Given the description of an element on the screen output the (x, y) to click on. 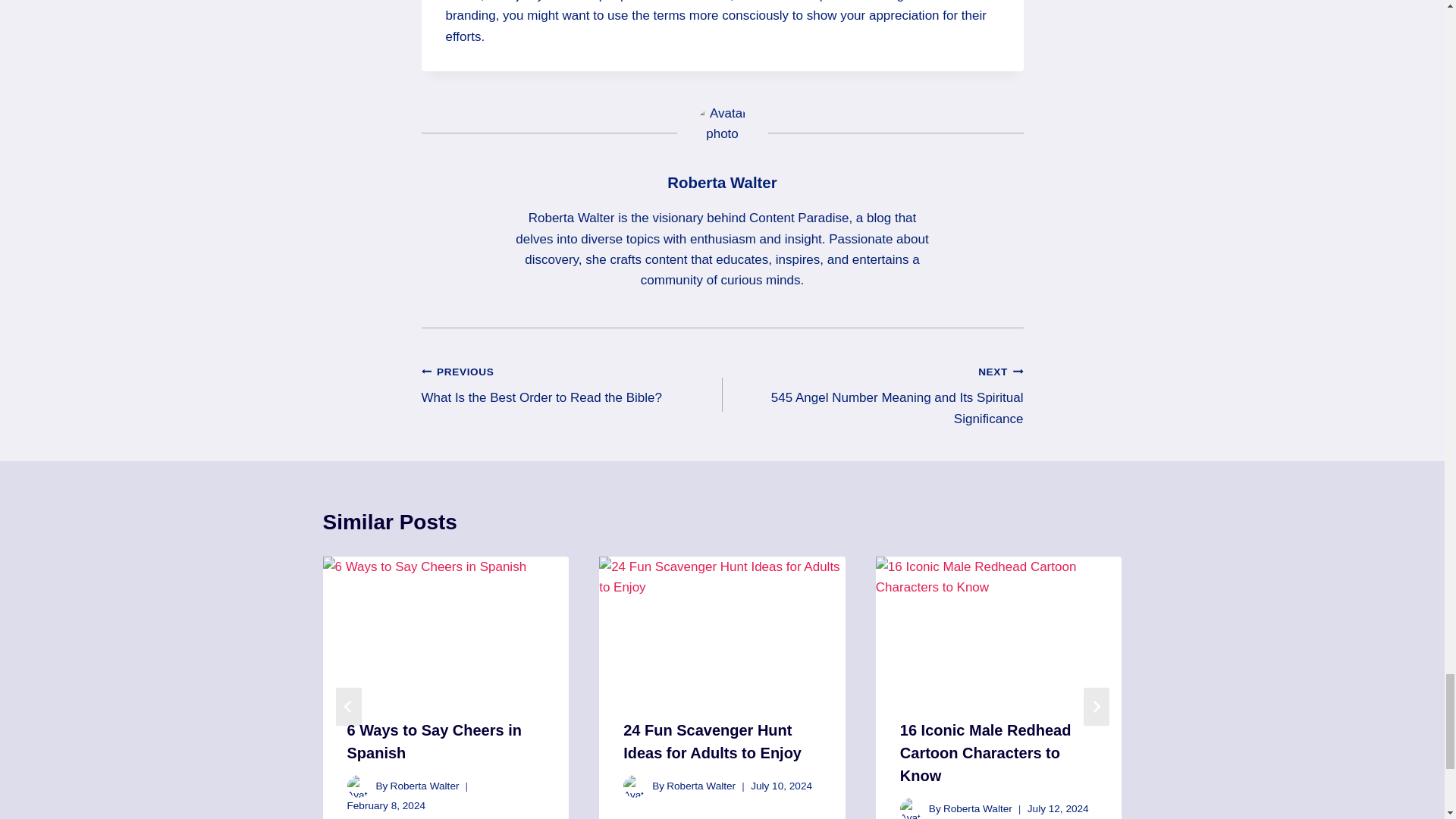
Posts by Roberta Walter (721, 182)
Roberta Walter (721, 182)
Roberta Walter (700, 785)
24 Fun Scavenger Hunt Ideas for Adults to Enjoy (872, 395)
6 Ways to Say Cheers in Spanish (712, 741)
Roberta Walter (434, 741)
